Given the description of an element on the screen output the (x, y) to click on. 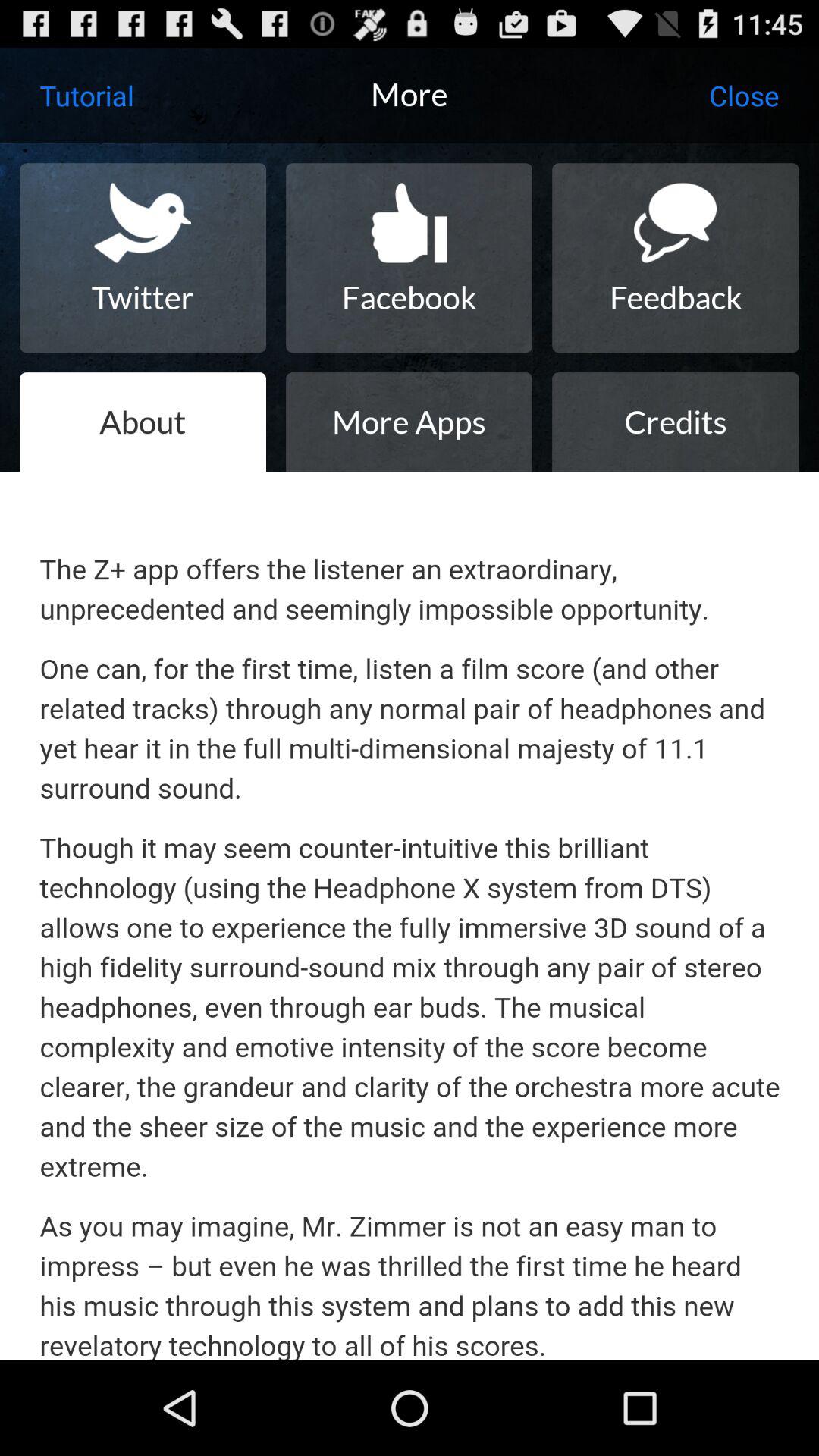
tap the icon above more apps icon (409, 257)
